Given the description of an element on the screen output the (x, y) to click on. 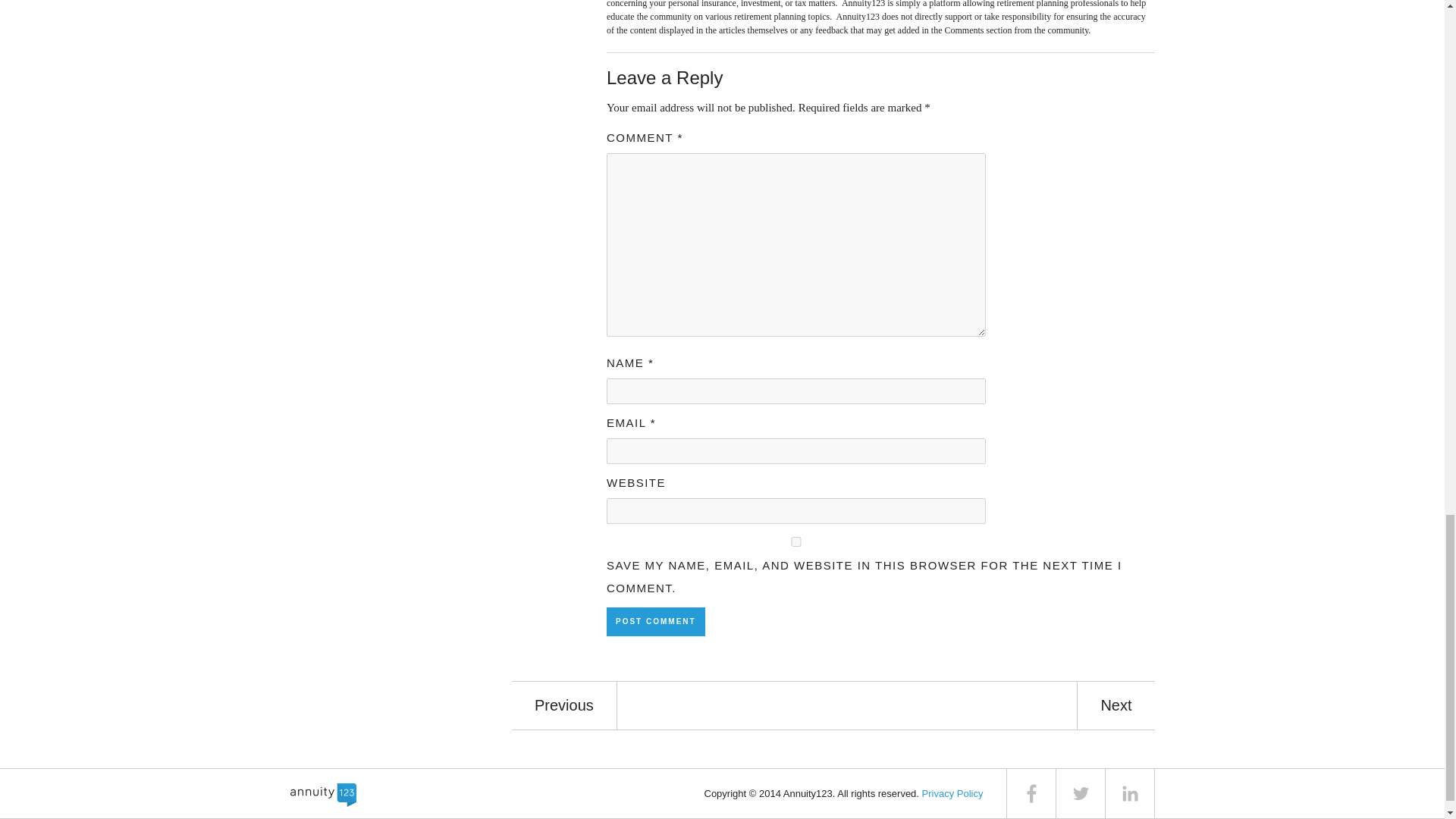
yes (796, 542)
Next (1115, 705)
Post Comment (655, 621)
Previous (564, 705)
Post Comment (655, 621)
